Given the description of an element on the screen output the (x, y) to click on. 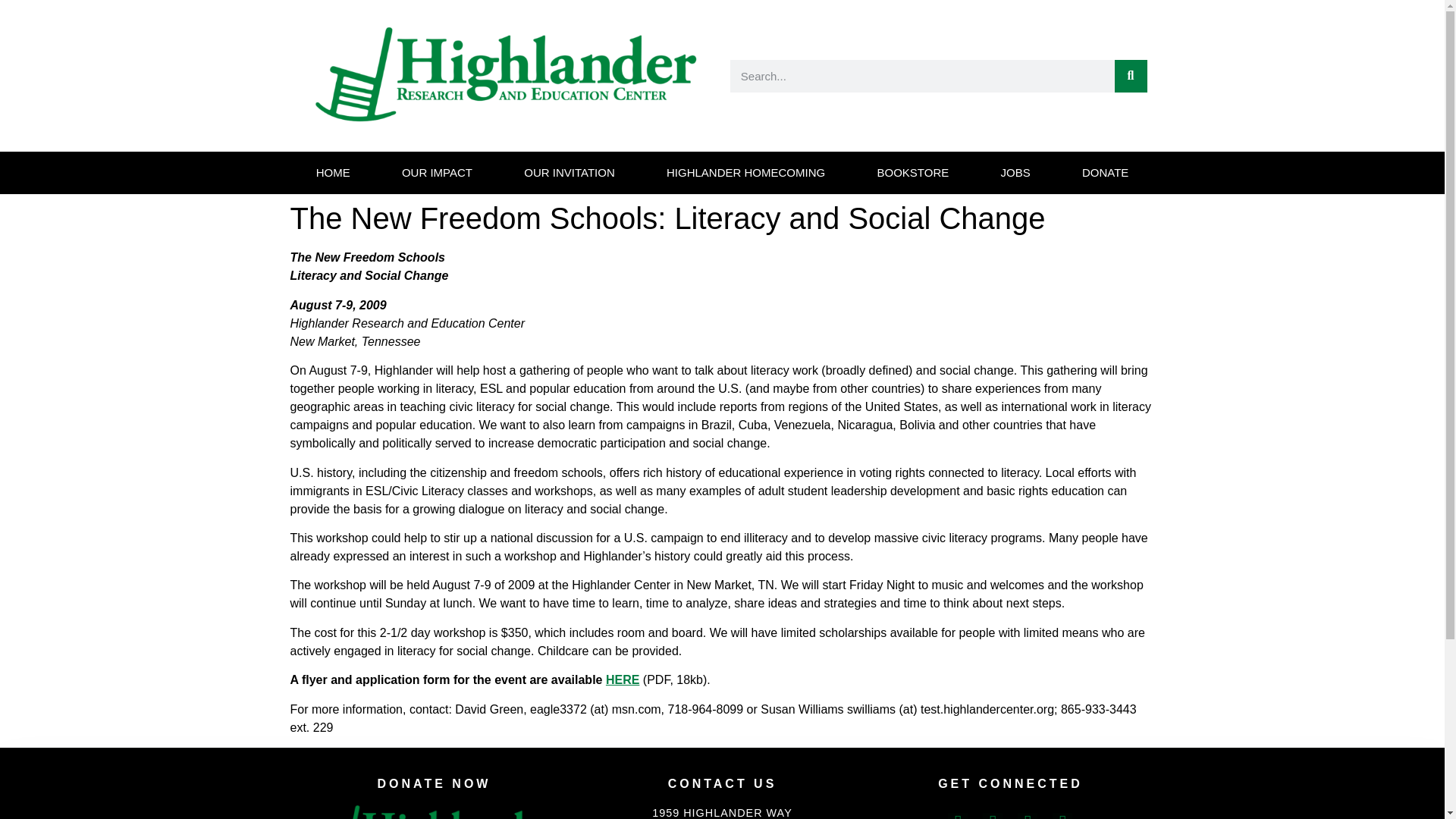
DONATE NOW (433, 784)
HOME (332, 172)
CONTACT US (722, 784)
GET CONNECTED (1010, 784)
HIGHLANDER HOMECOMING (745, 172)
OUR INVITATION (568, 172)
OUR IMPACT (436, 172)
